Given the description of an element on the screen output the (x, y) to click on. 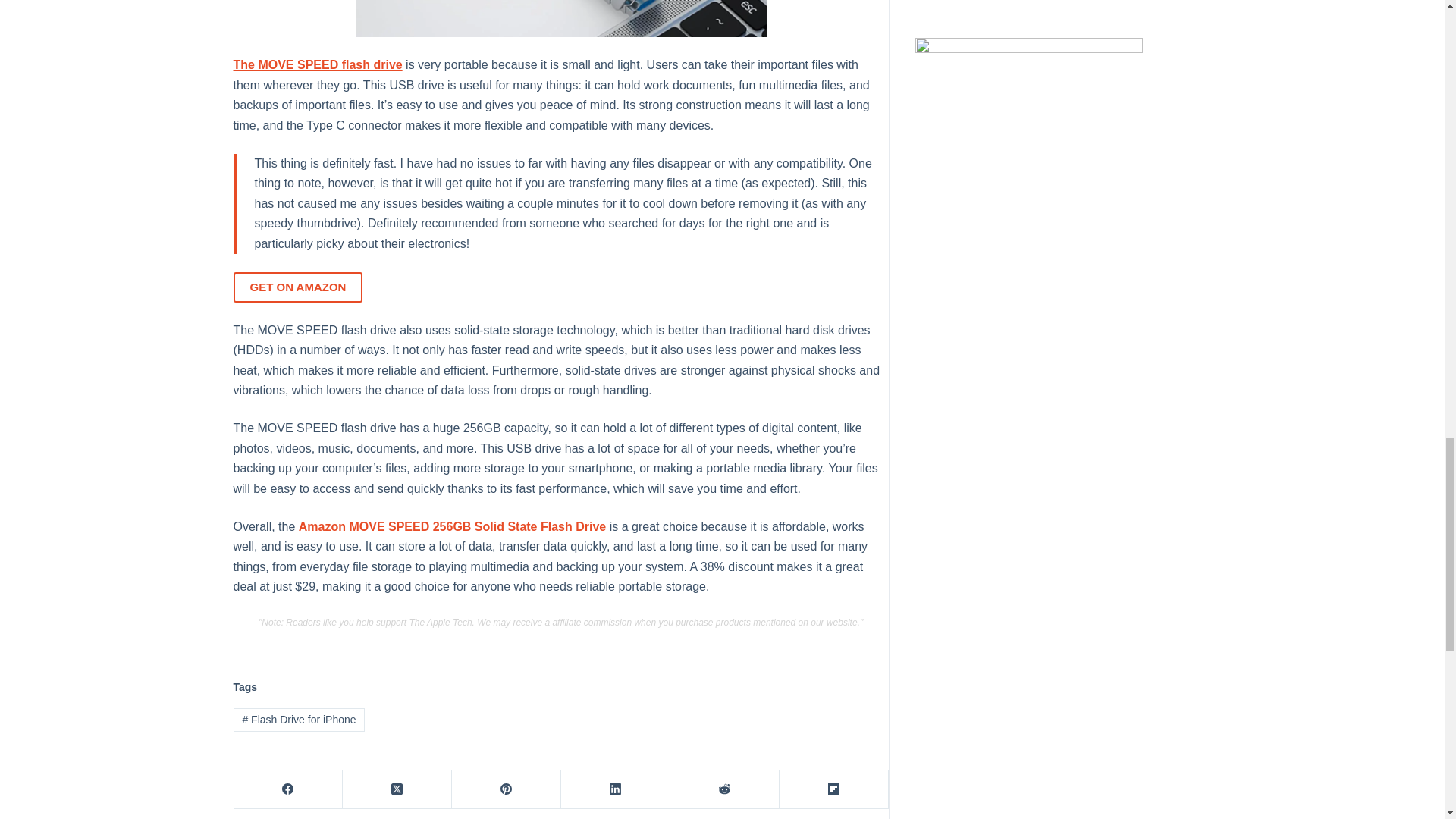
GET ON AMAZON (297, 286)
The MOVE SPEED flash drive (317, 64)
Amazon MOVE SPEED 256GB Solid State Flash Drive (451, 526)
